Given the description of an element on the screen output the (x, y) to click on. 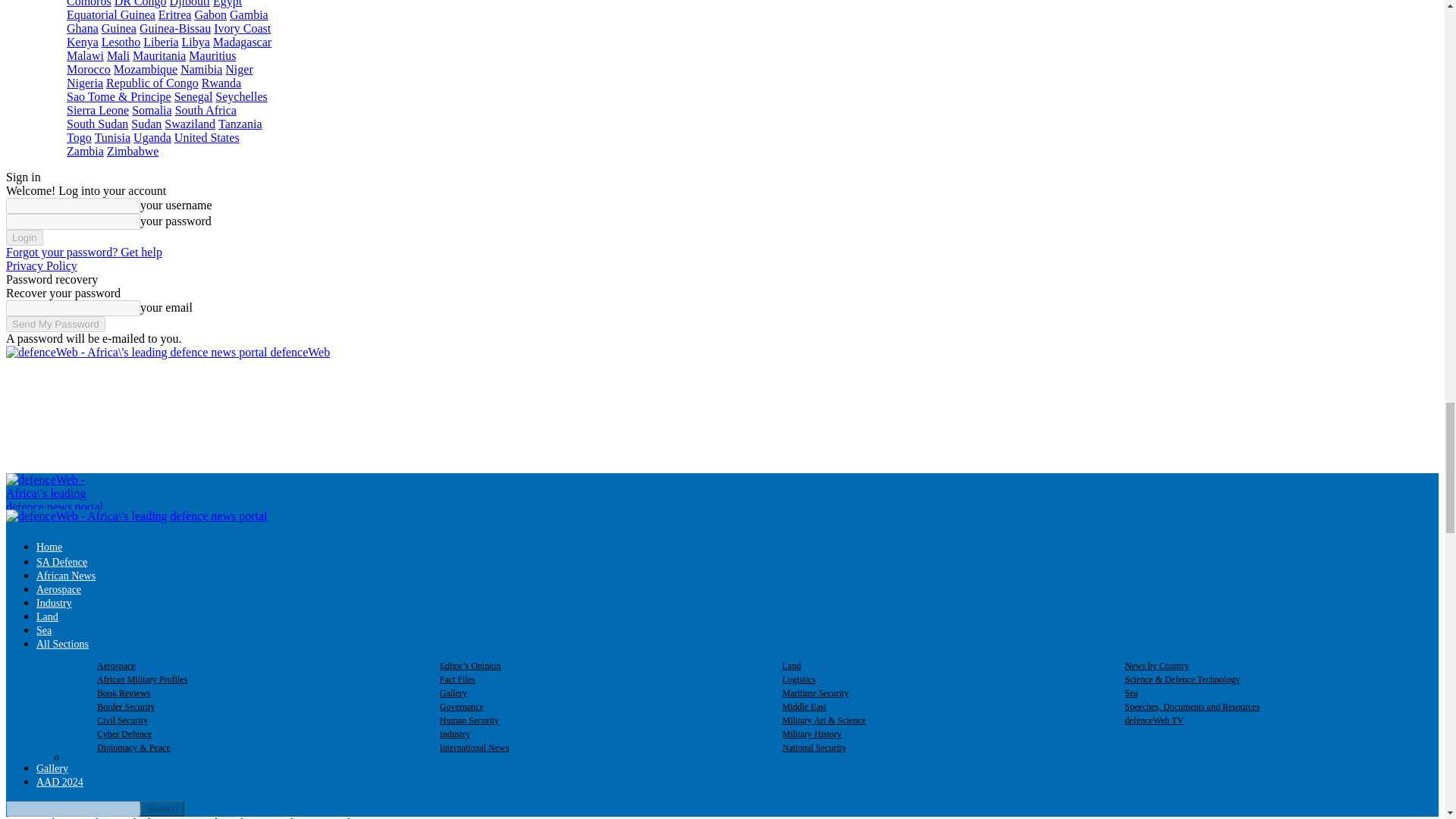
Search (161, 808)
Login (24, 237)
Send My Password (54, 324)
